Given the description of an element on the screen output the (x, y) to click on. 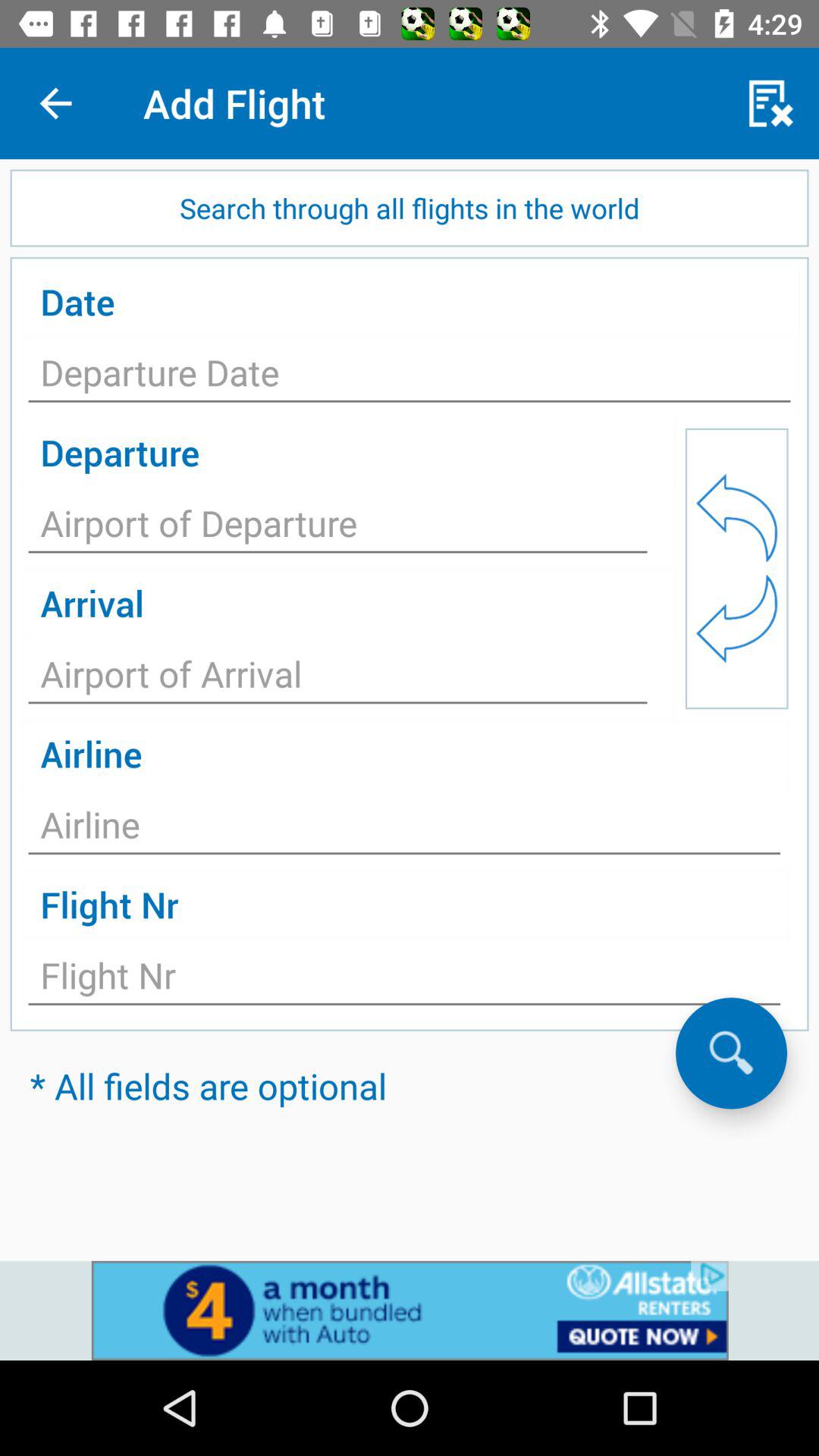
to fill date of source (409, 377)
